Given the description of an element on the screen output the (x, y) to click on. 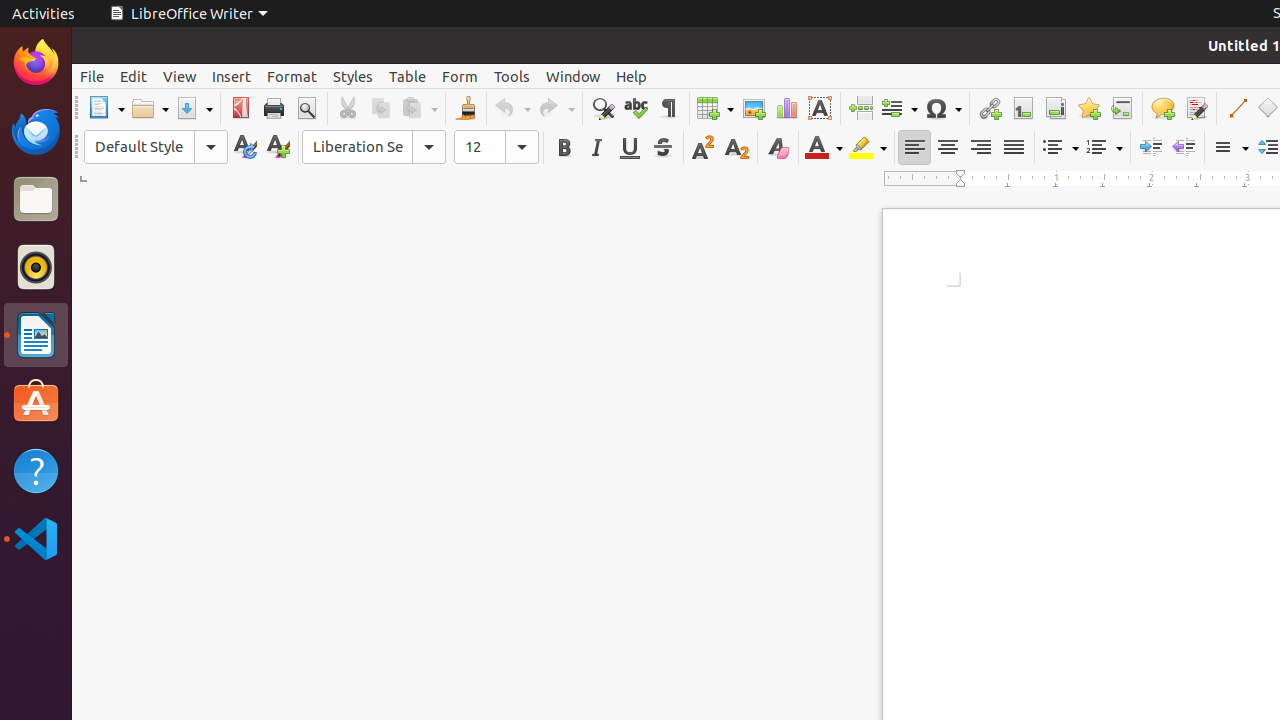
Edit Element type: menu (133, 76)
IsaHelpMain.desktop Element type: label (133, 300)
Redo Element type: push-button (556, 108)
Files Element type: push-button (36, 199)
Strikethrough Element type: toggle-button (662, 147)
